Given the description of an element on the screen output the (x, y) to click on. 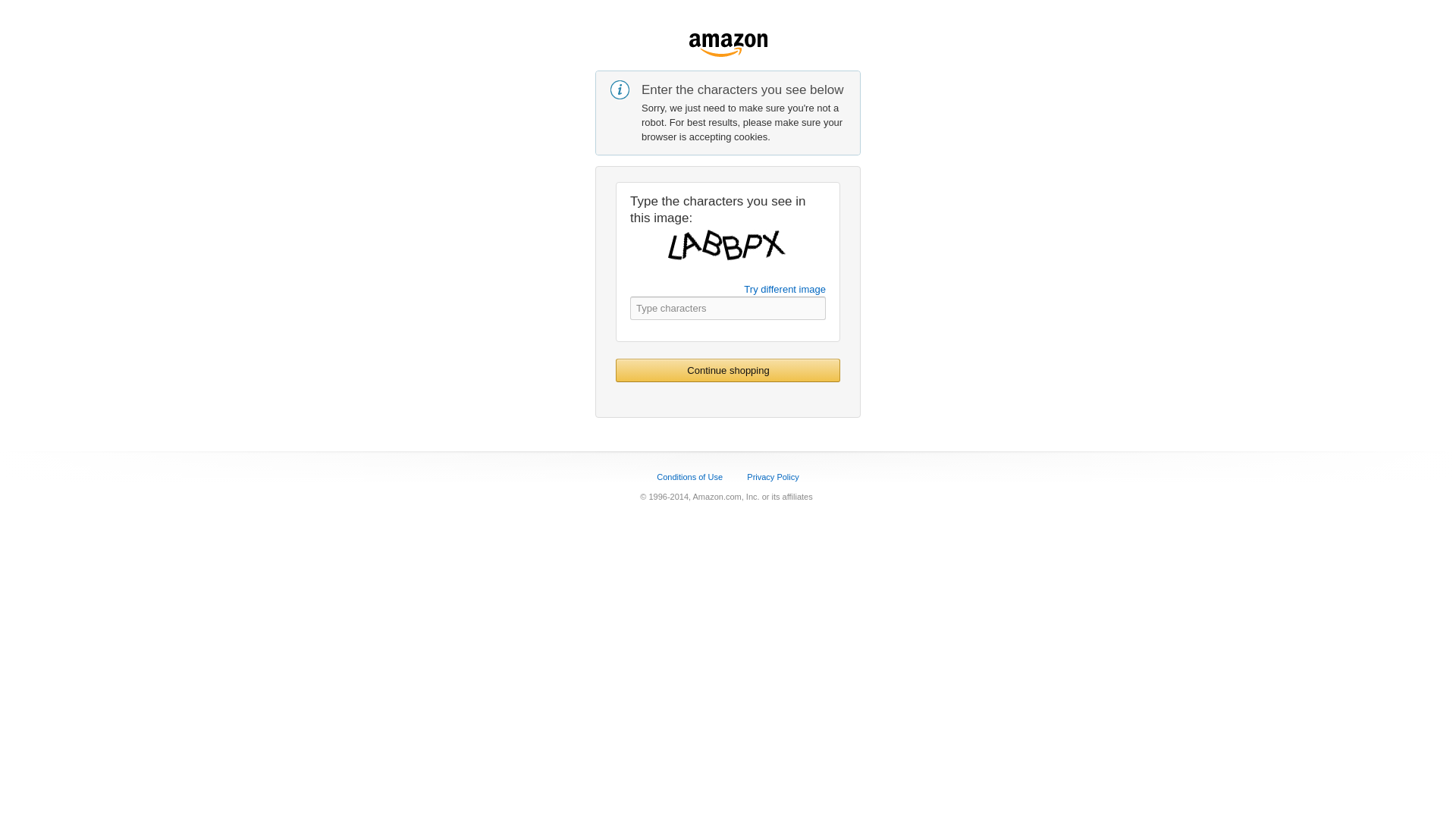
Continue shopping (727, 370)
Try different image (784, 288)
Conditions of Use (689, 476)
Privacy Policy (771, 476)
